Given the description of an element on the screen output the (x, y) to click on. 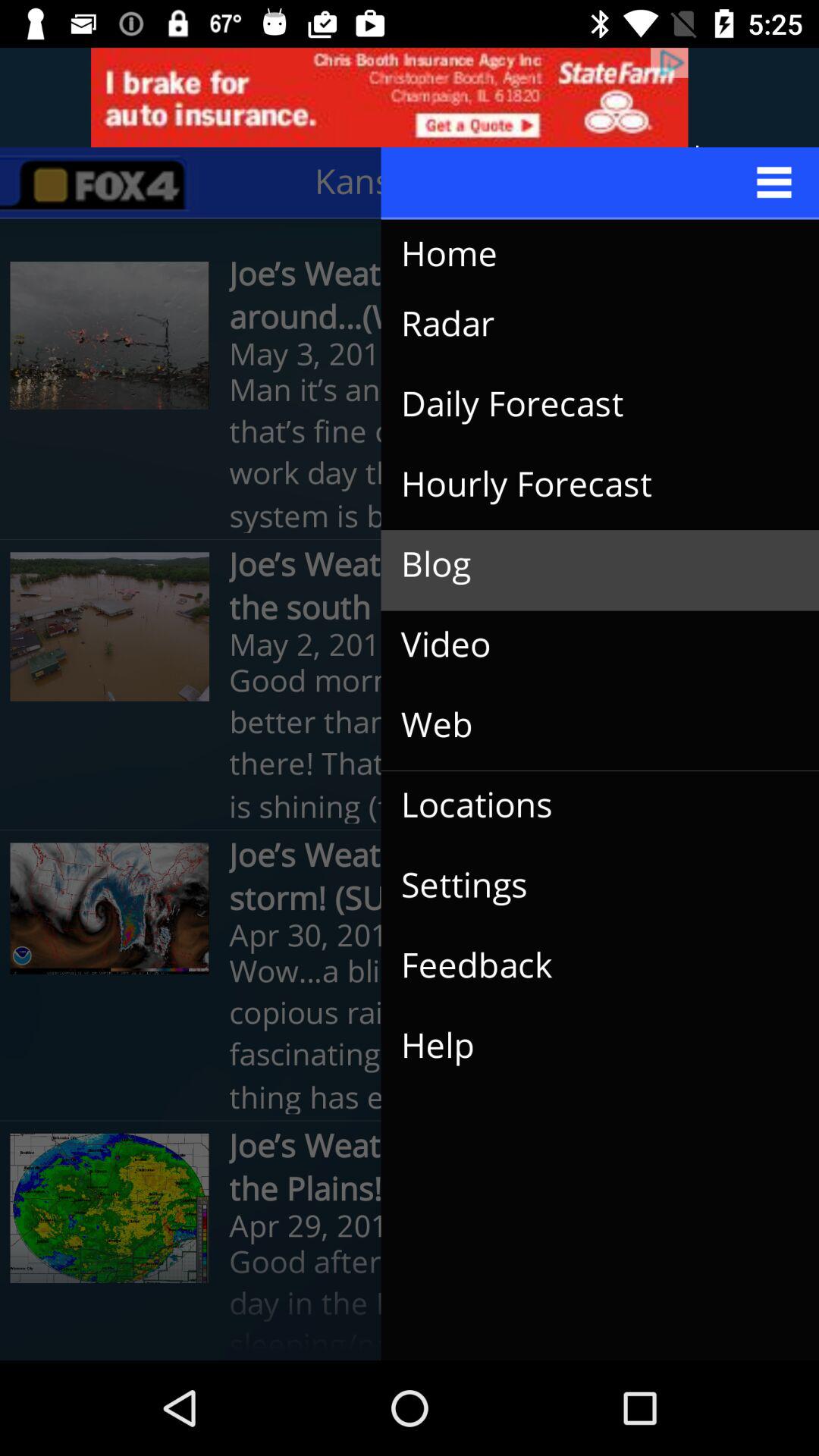
open advertisement (409, 97)
